Given the description of an element on the screen output the (x, y) to click on. 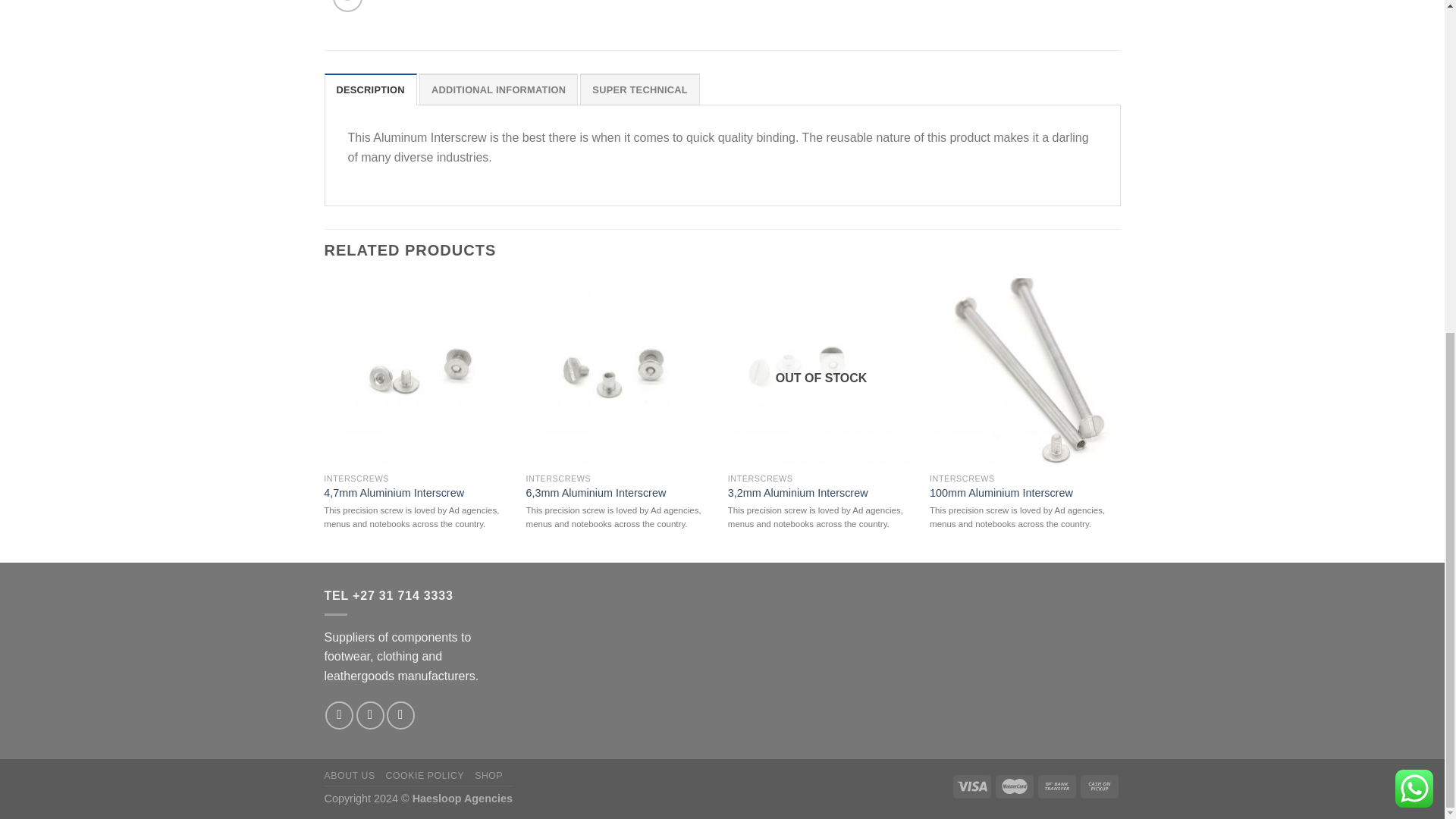
Zoom (347, 6)
Follow on Instagram (338, 715)
